Given the description of an element on the screen output the (x, y) to click on. 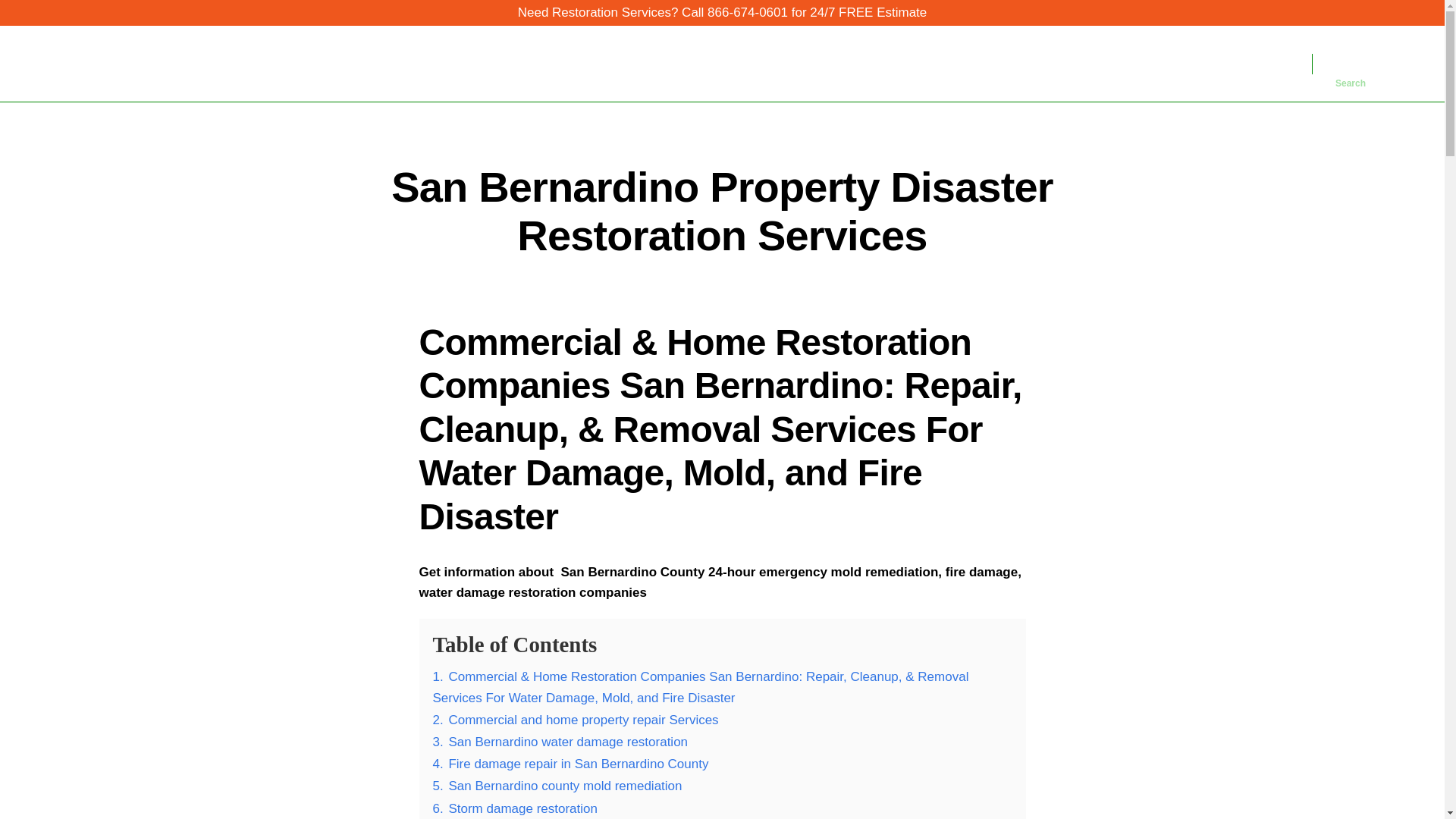
6. Storm damage restoration (514, 808)
Fire (1115, 63)
Water (1062, 63)
Contact (1260, 63)
Home (1003, 63)
Mold (1158, 63)
4. Fire damage repair in San Bernardino County (569, 763)
3. San Bernardino water damage restoration (559, 741)
2. Commercial and home property repair Services (574, 719)
Damage Restoration Help (191, 63)
5. San Bernardino county mold remediation (556, 785)
Blogs (1204, 63)
Search (1350, 63)
